Given the description of an element on the screen output the (x, y) to click on. 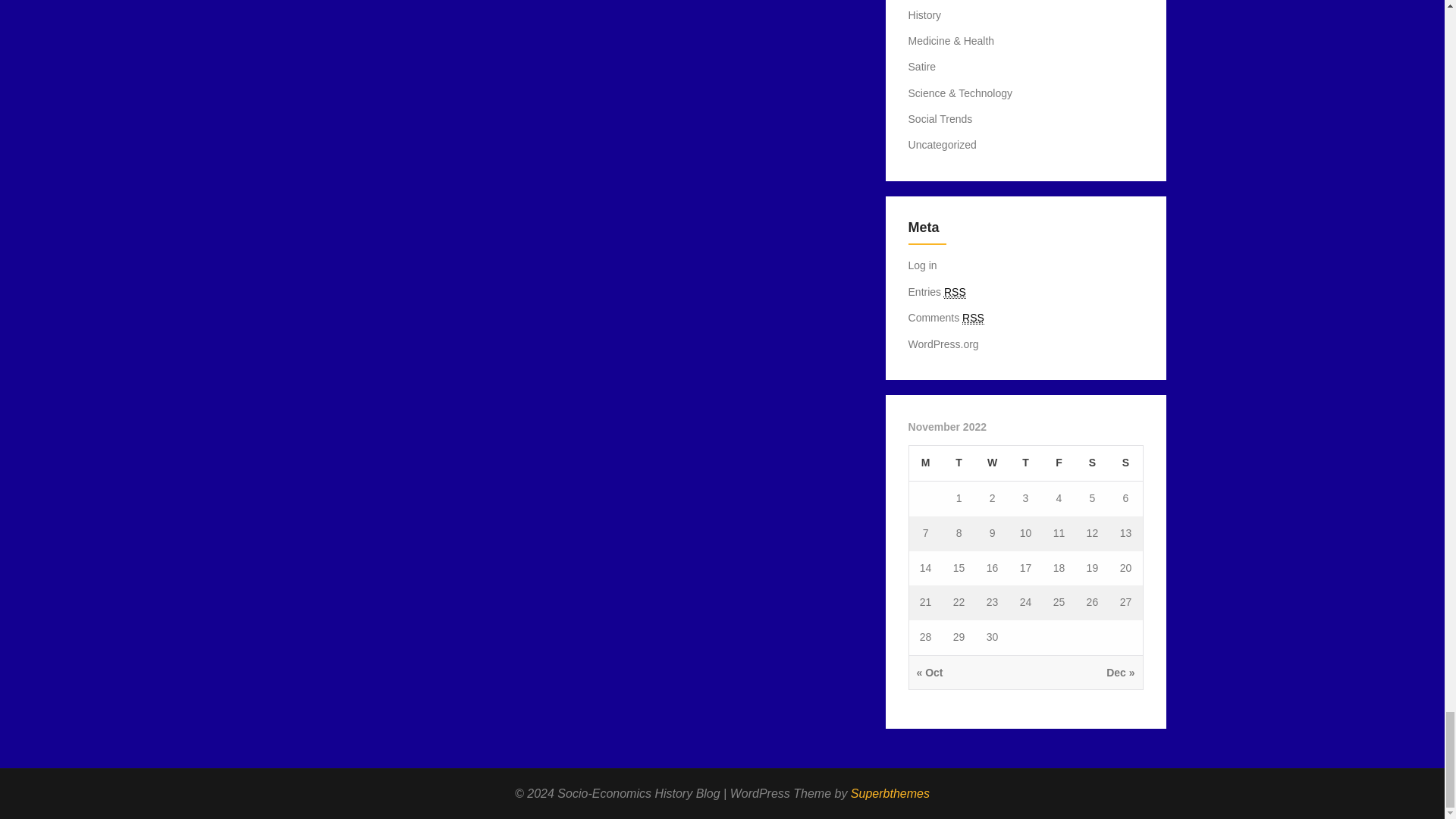
Thursday (1025, 462)
Friday (1058, 462)
Wednesday (992, 462)
Saturday (1091, 462)
Really Simple Syndication (954, 291)
Really Simple Syndication (973, 318)
Monday (925, 462)
Tuesday (958, 462)
Sunday (1125, 462)
